Given the description of an element on the screen output the (x, y) to click on. 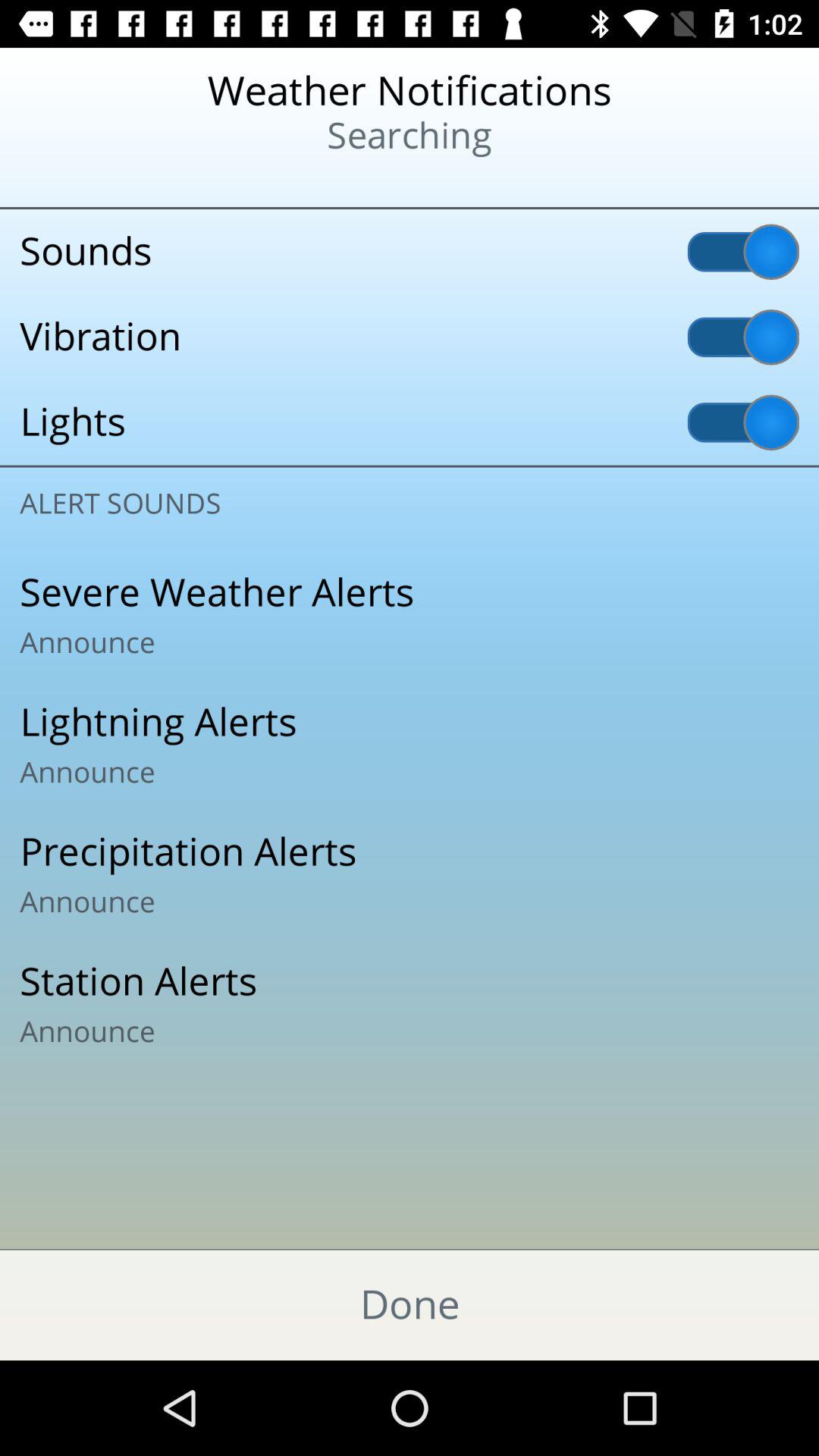
click lights (409, 422)
